Given the description of an element on the screen output the (x, y) to click on. 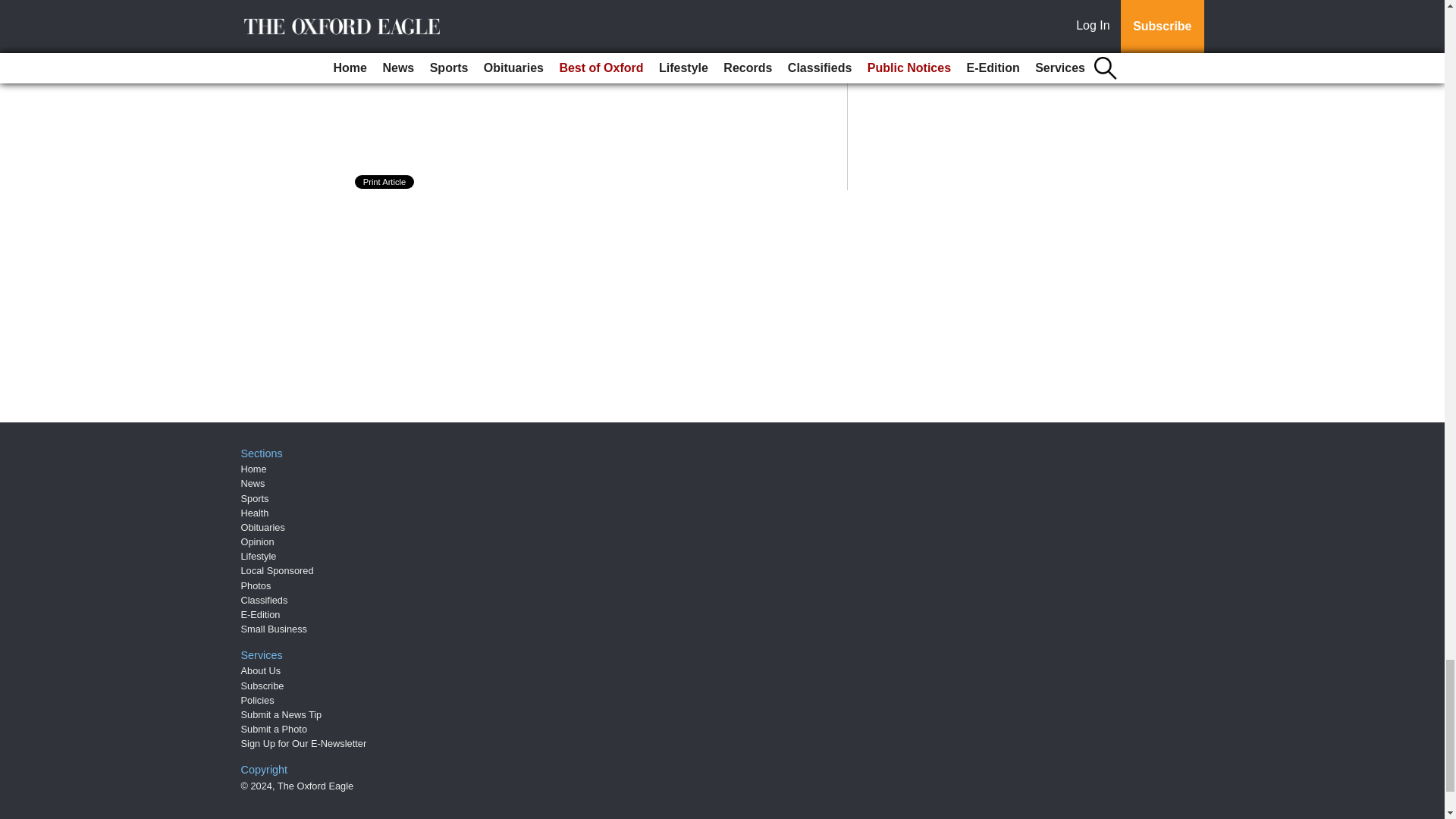
Welcome to new students, even young wolves (485, 2)
Print Article (384, 182)
Welcome to new students, even young wolves (485, 2)
